Given the description of an element on the screen output the (x, y) to click on. 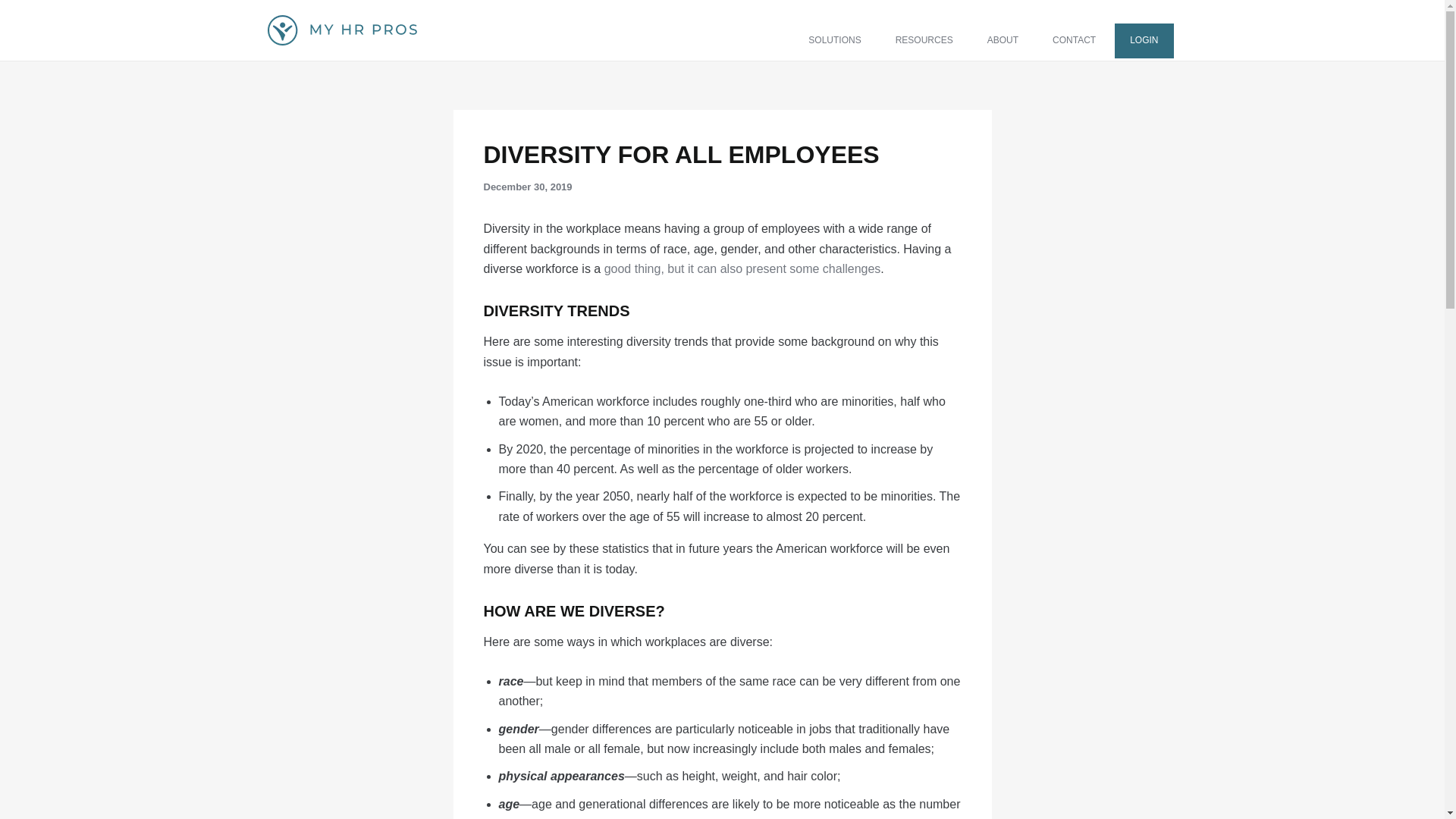
SOLUTIONS (834, 40)
ABOUT (1002, 40)
CONTACT (1073, 40)
RESOURCES (924, 40)
LOGIN (1144, 40)
